Given the description of an element on the screen output the (x, y) to click on. 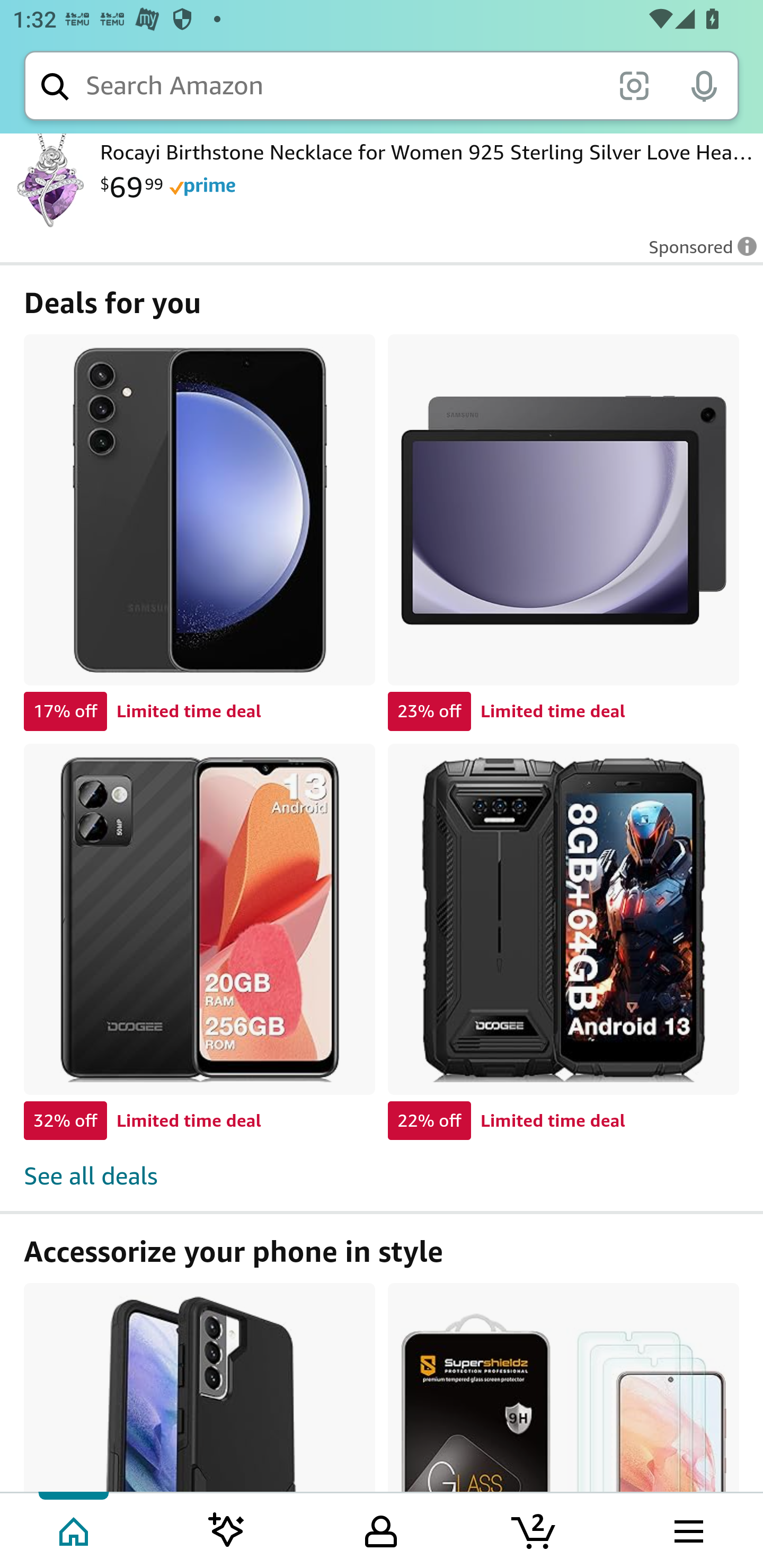
scan it (633, 85)
Leave feedback on Sponsored ad Sponsored  (696, 252)
See all deals (381, 1166)
Home Tab 1 of 5 (75, 1529)
Inspire feed Tab 2 of 5 (227, 1529)
Your Amazon.com Tab 3 of 5 (380, 1529)
Cart 2 items Tab 4 of 5 2 (534, 1529)
Browse menu Tab 5 of 5 (687, 1529)
